Given the description of an element on the screen output the (x, y) to click on. 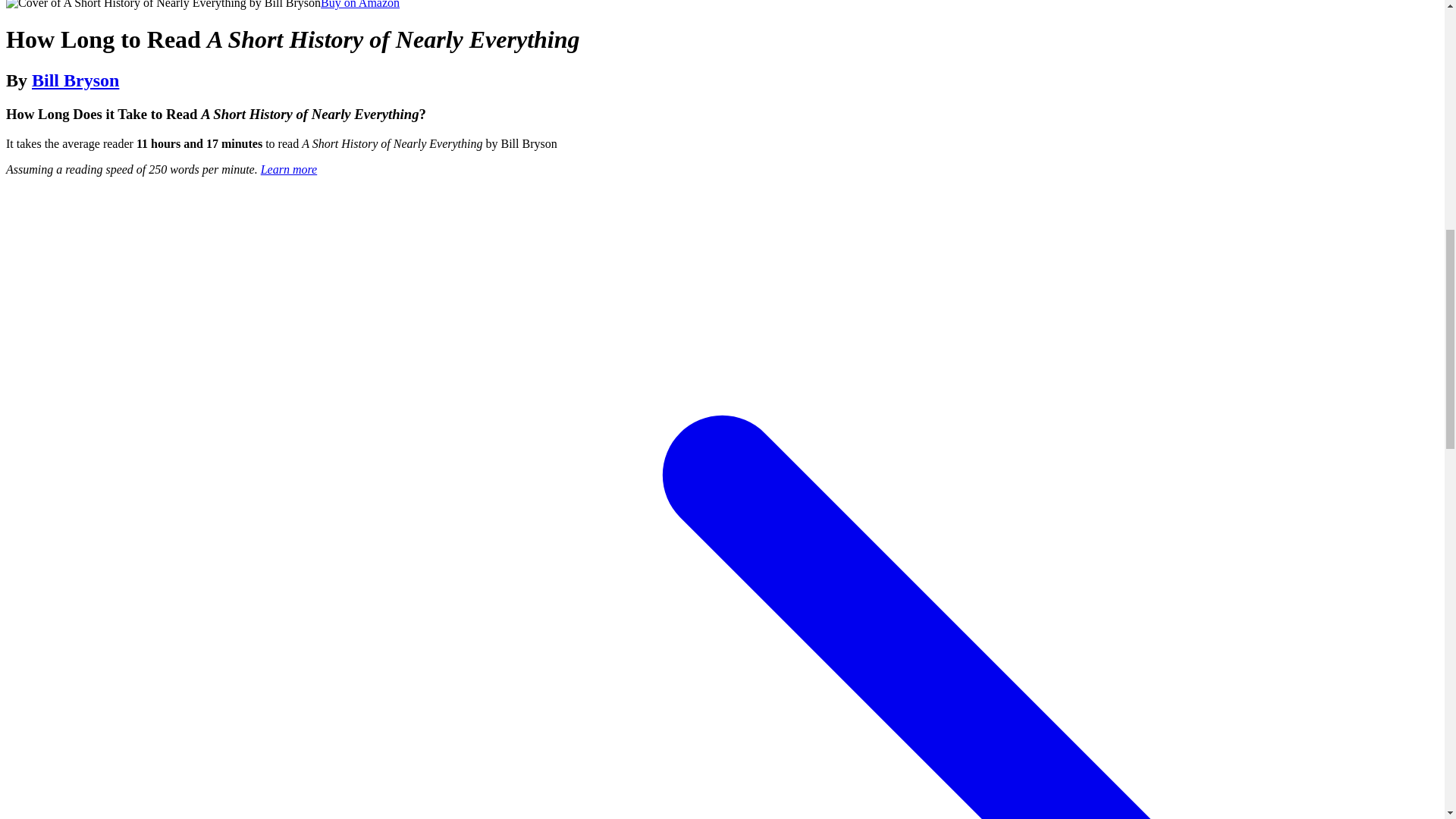
Buy on Amazon (359, 4)
Bill Bryson (75, 80)
